Given the description of an element on the screen output the (x, y) to click on. 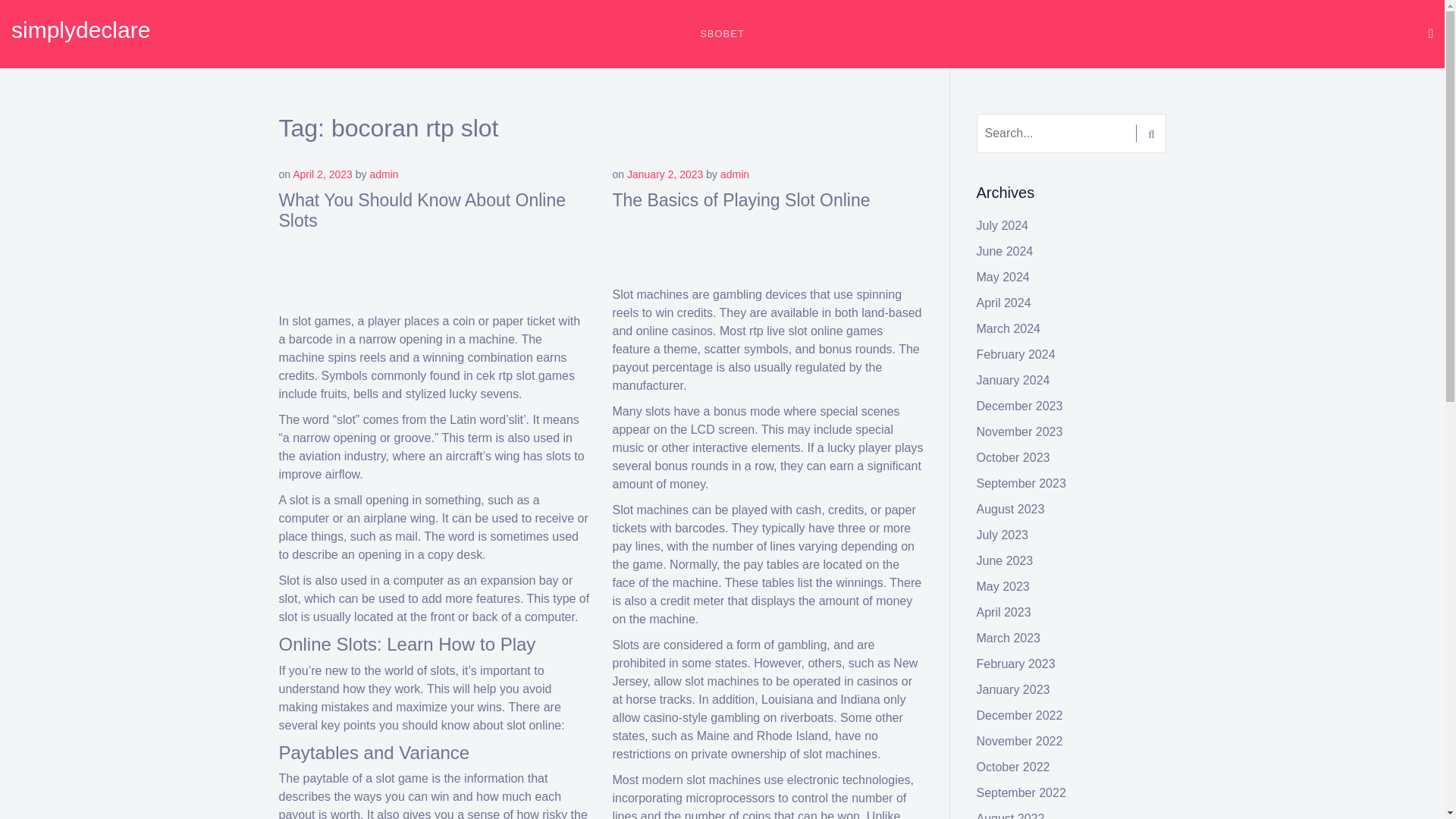
April 2, 2023 (322, 174)
September 2022 (1020, 792)
February 2023 (1015, 663)
admin (383, 174)
October 2022 (1012, 766)
simplydeclare (80, 29)
March 2024 (1008, 328)
August 2023 (1010, 508)
September 2023 (1020, 482)
May 2023 (1002, 585)
July 2024 (1002, 225)
October 2023 (1012, 457)
June 2024 (1004, 250)
January 2, 2023 (665, 174)
November 2022 (1019, 740)
